Given the description of an element on the screen output the (x, y) to click on. 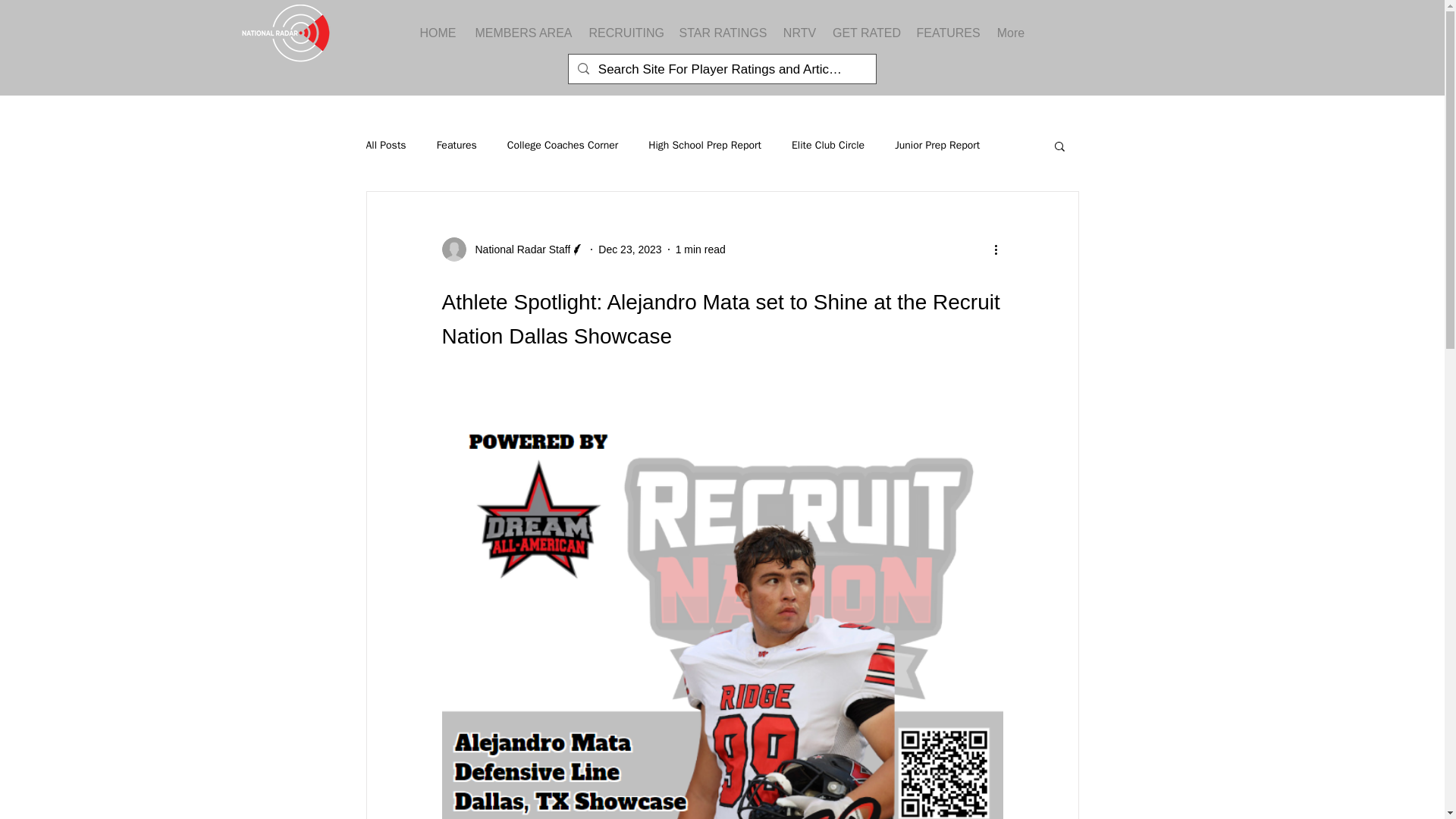
National Radar Staff (517, 248)
National Radar Staff (513, 249)
Features (456, 145)
NRTV (799, 33)
MEMBERS AREA (522, 33)
All Posts (385, 145)
GET RATED (866, 33)
College Coaches Corner (562, 145)
STAR RATINGS (722, 33)
FEATURES (947, 33)
HOME (437, 33)
Dec 23, 2023 (629, 248)
Junior Prep Report (937, 145)
Elite Club Circle (828, 145)
RECRUITING (625, 33)
